Given the description of an element on the screen output the (x, y) to click on. 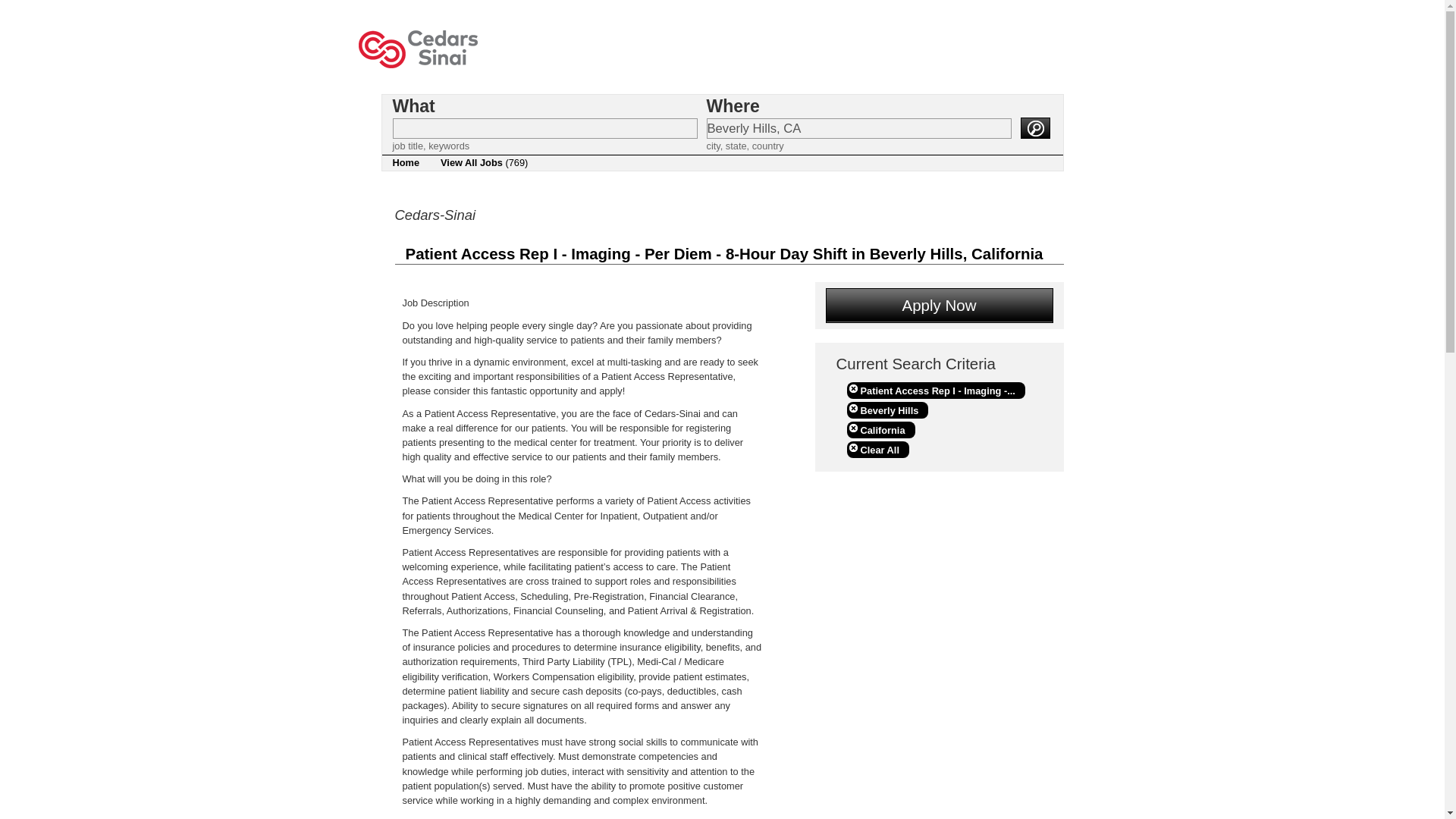
Remove California (879, 429)
California (879, 429)
Beverly Hills, CA (858, 127)
search (1034, 127)
Patient Access Rep I - Imaging -... (935, 390)
search (1034, 127)
Clear All (876, 449)
Submit Search (1034, 127)
Remove Beverly Hills (886, 410)
